Given the description of an element on the screen output the (x, y) to click on. 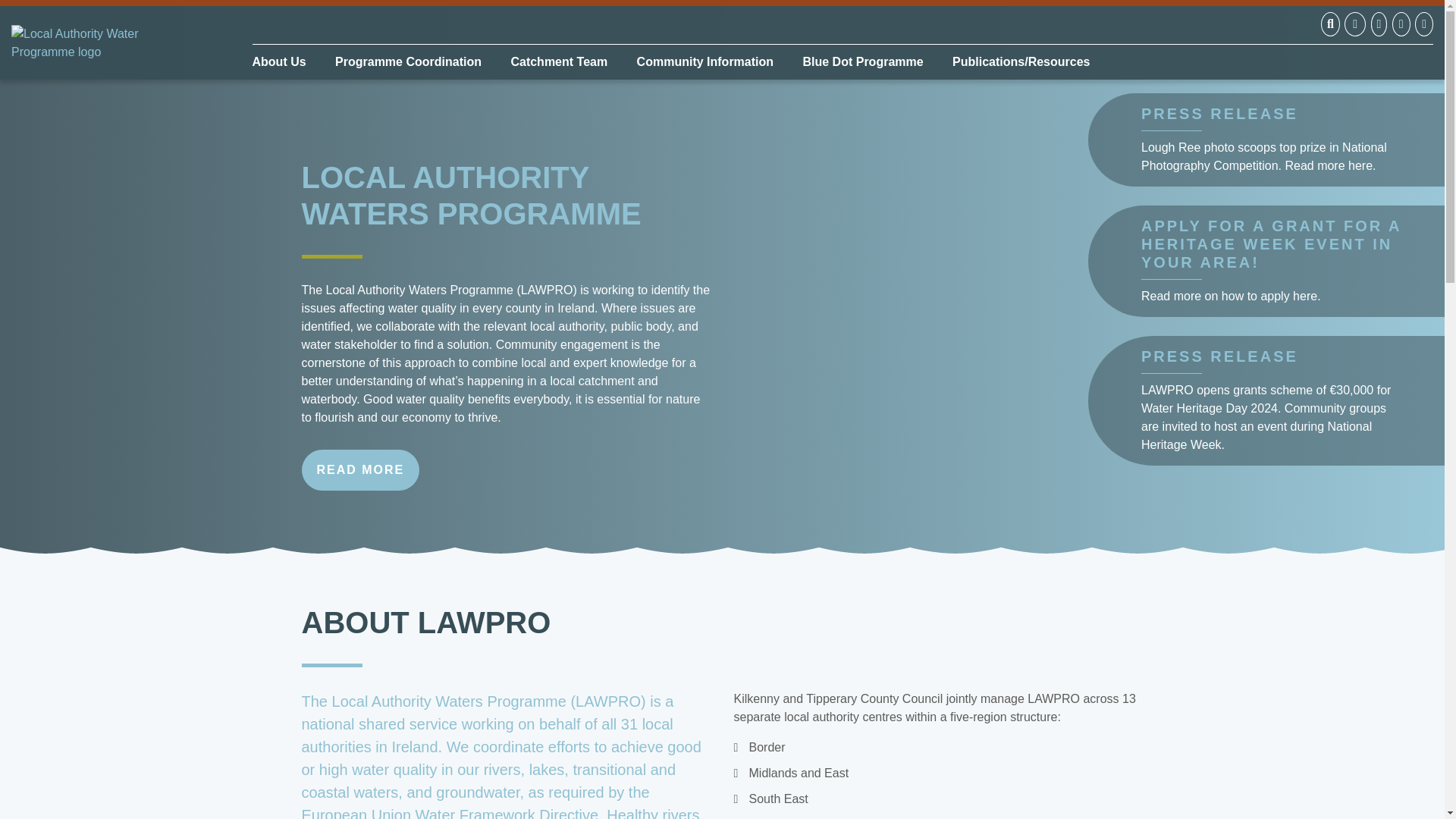
Programme Coordination (408, 62)
Catchment Team (558, 62)
About Us (284, 62)
Community Information (705, 62)
